Given the description of an element on the screen output the (x, y) to click on. 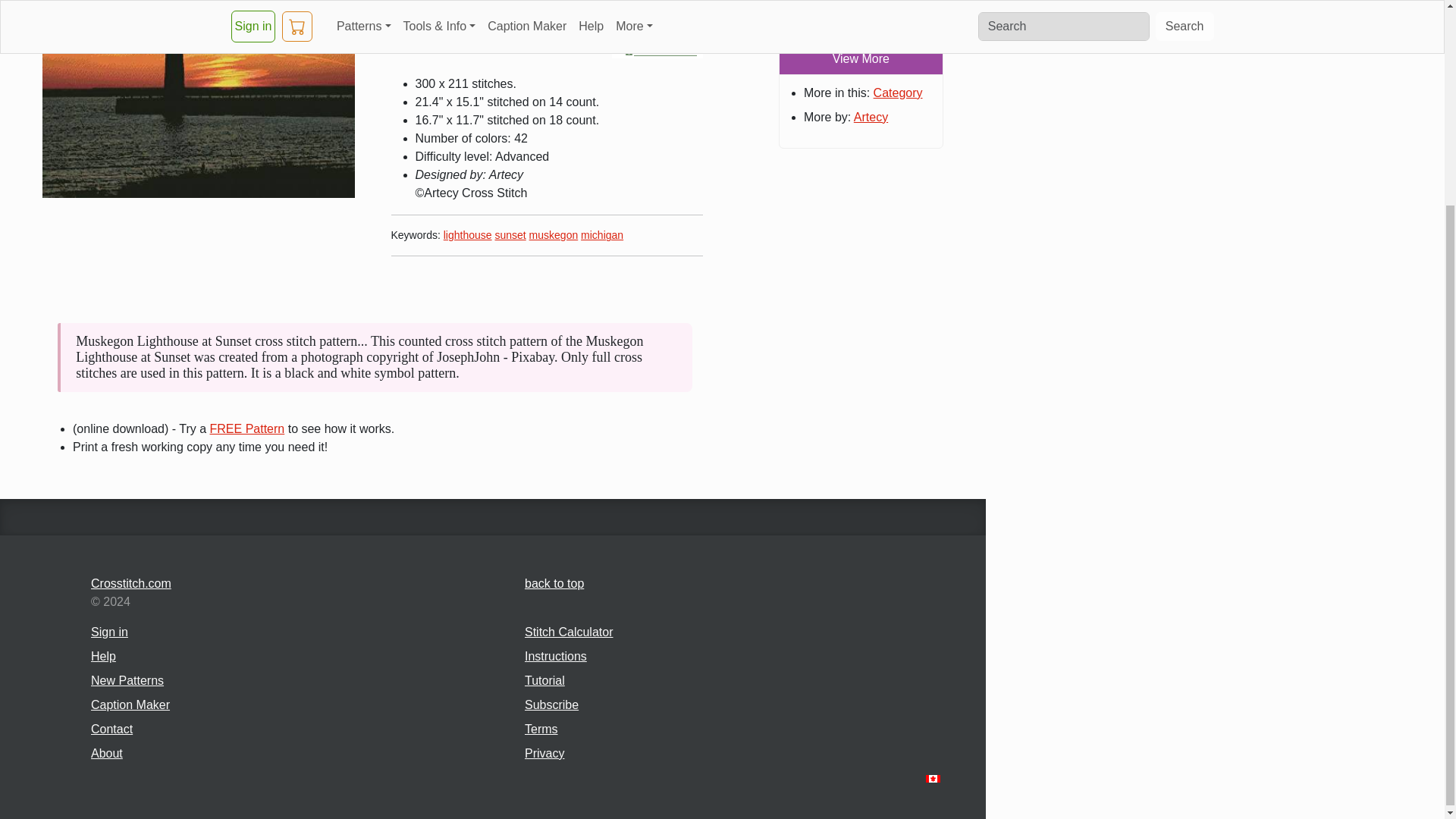
Add to Cart (594, 23)
Sign in (109, 631)
Caption Maker (130, 704)
Help (103, 656)
set (887, 14)
New Patterns (126, 680)
Artecy (870, 116)
Crosstitch.com (298, 583)
Contact (111, 728)
sunset (510, 234)
FREE Pattern (247, 428)
Category (898, 92)
michigan (601, 234)
set (887, 14)
Muskegon Lighthouse at Sunset (198, 99)
